Given the description of an element on the screen output the (x, y) to click on. 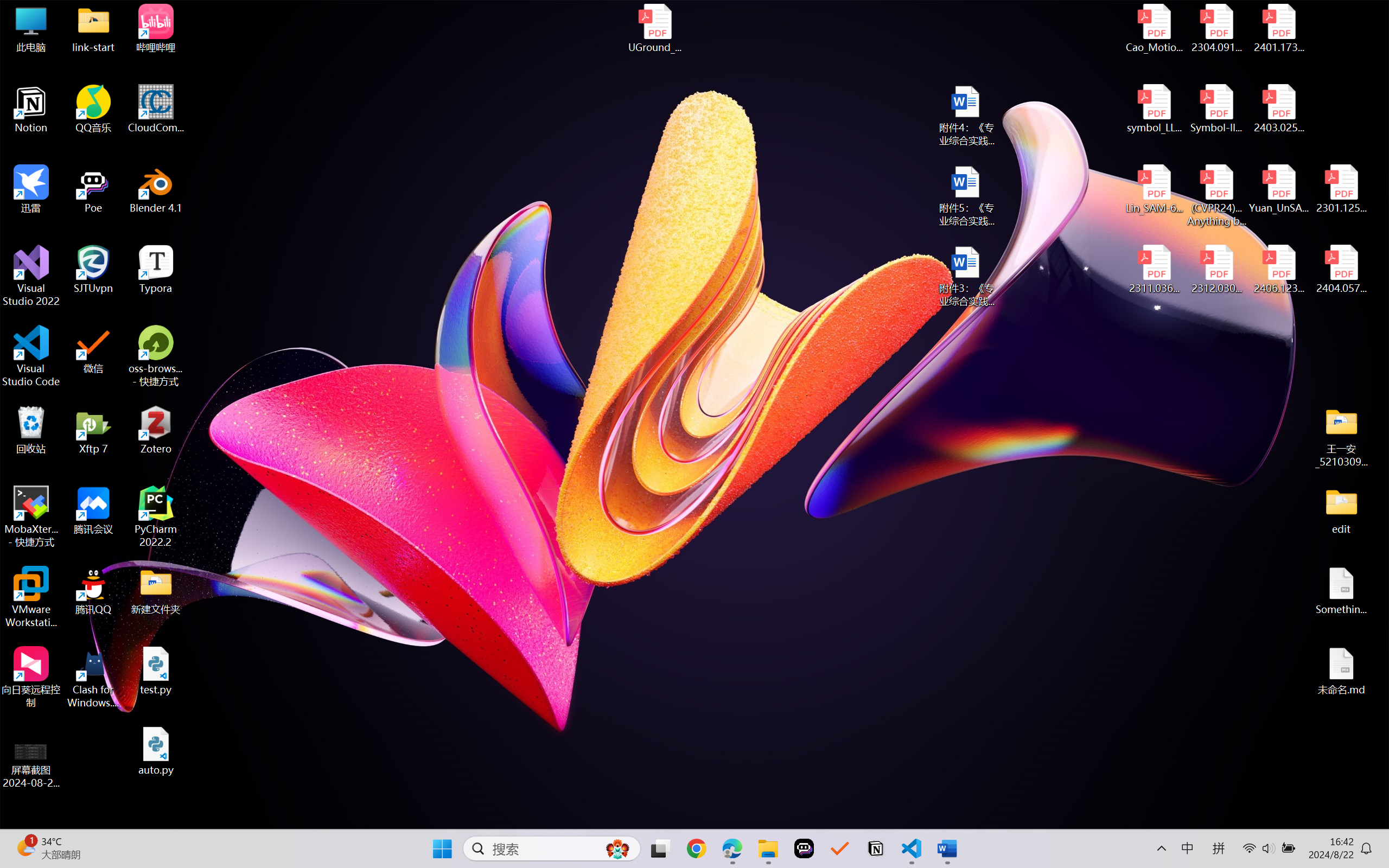
Visual Studio 2022 (31, 276)
test.py (156, 670)
Visual Studio Code (31, 355)
PyCharm 2022.2 (156, 516)
Symbol-llm-v2.pdf (1216, 109)
Xftp 7 (93, 430)
